Given the description of an element on the screen output the (x, y) to click on. 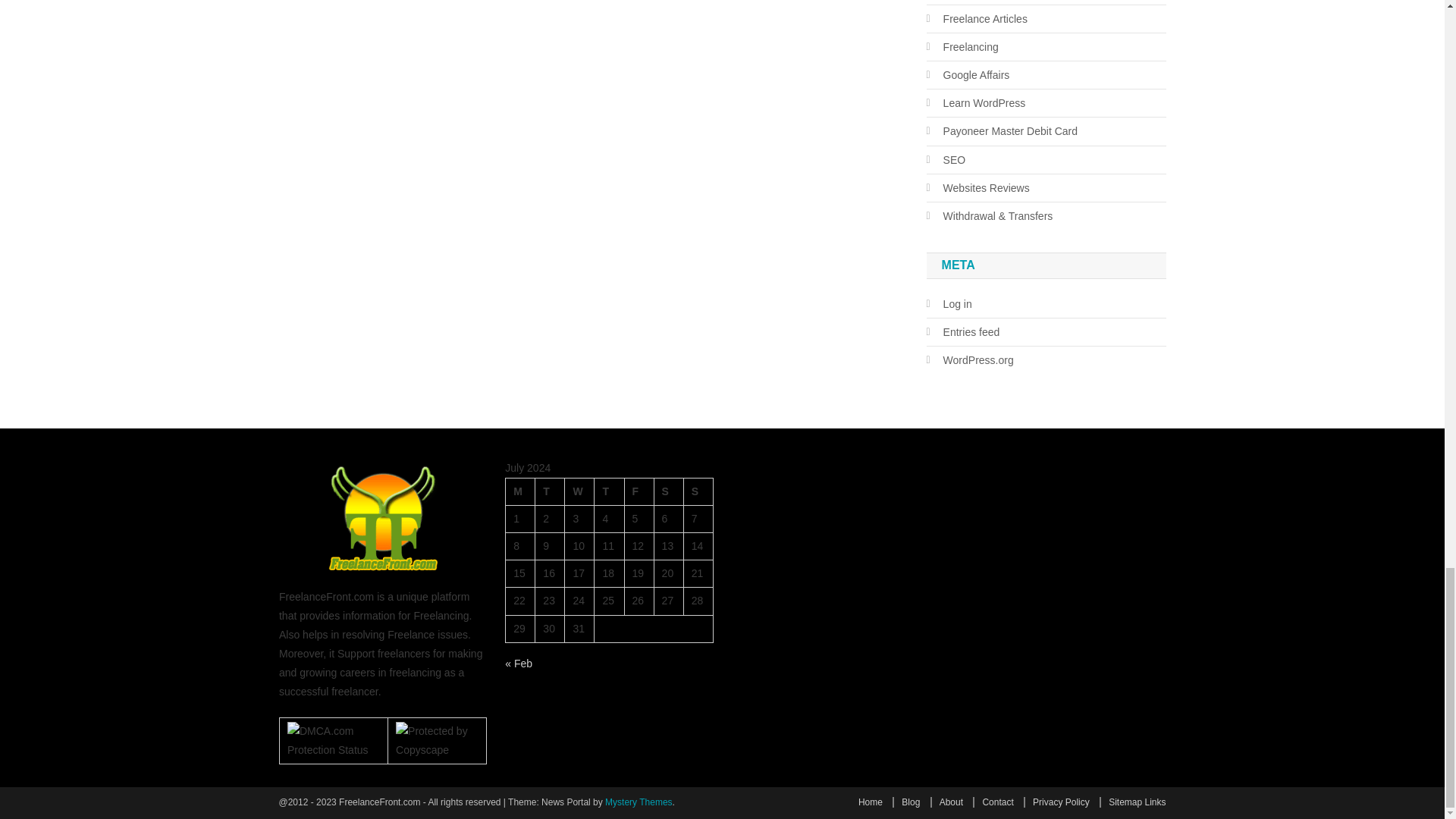
Friday (638, 491)
Thursday (609, 491)
Wednesday (579, 491)
Monday (520, 491)
Sunday (697, 491)
Protected by Copyscape - Do not copy content from this page. (437, 740)
Saturday (667, 491)
Tuesday (549, 491)
